Given the description of an element on the screen output the (x, y) to click on. 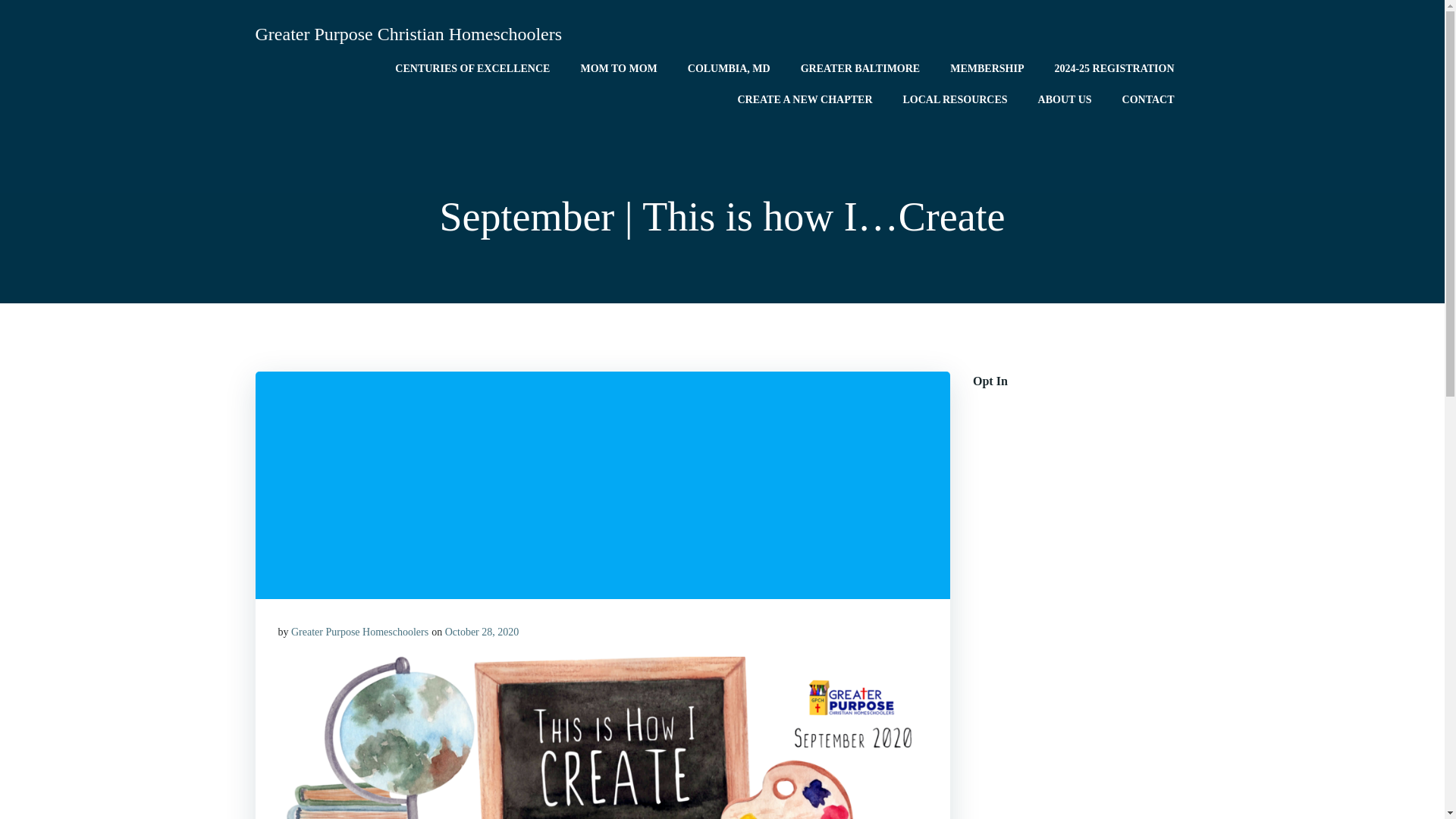
COLUMBIA, MD (728, 68)
2024-25 REGISTRATION (1113, 68)
CENTURIES OF EXCELLENCE (472, 68)
CONTACT (1148, 99)
October 28, 2020 (482, 632)
LOCAL RESOURCES (954, 99)
GREATER BALTIMORE (860, 68)
MOM TO MOM (617, 68)
Greater Purpose Homeschoolers (359, 632)
Greater Purpose Christian Homeschoolers (408, 33)
MEMBERSHIP (986, 68)
ABOUT US (1065, 99)
CREATE A NEW CHAPTER (804, 99)
